Given the description of an element on the screen output the (x, y) to click on. 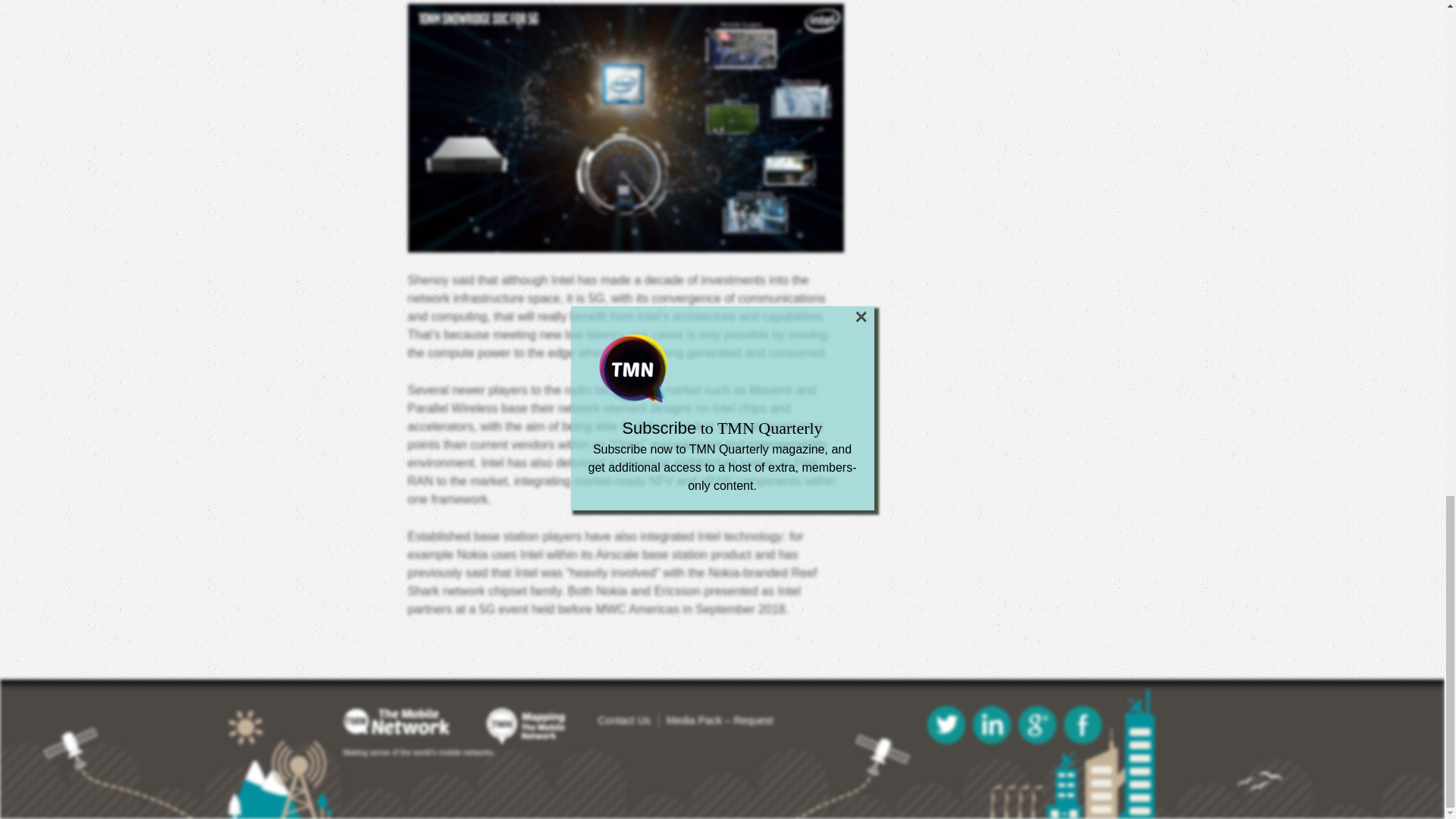
The Mobile Network (411, 721)
Mapping The Mobile Network (526, 725)
LinkedIn (991, 724)
Google Plus (1036, 724)
Twitter (944, 724)
Facebook (1081, 724)
Contact Us (622, 719)
